Given the description of an element on the screen output the (x, y) to click on. 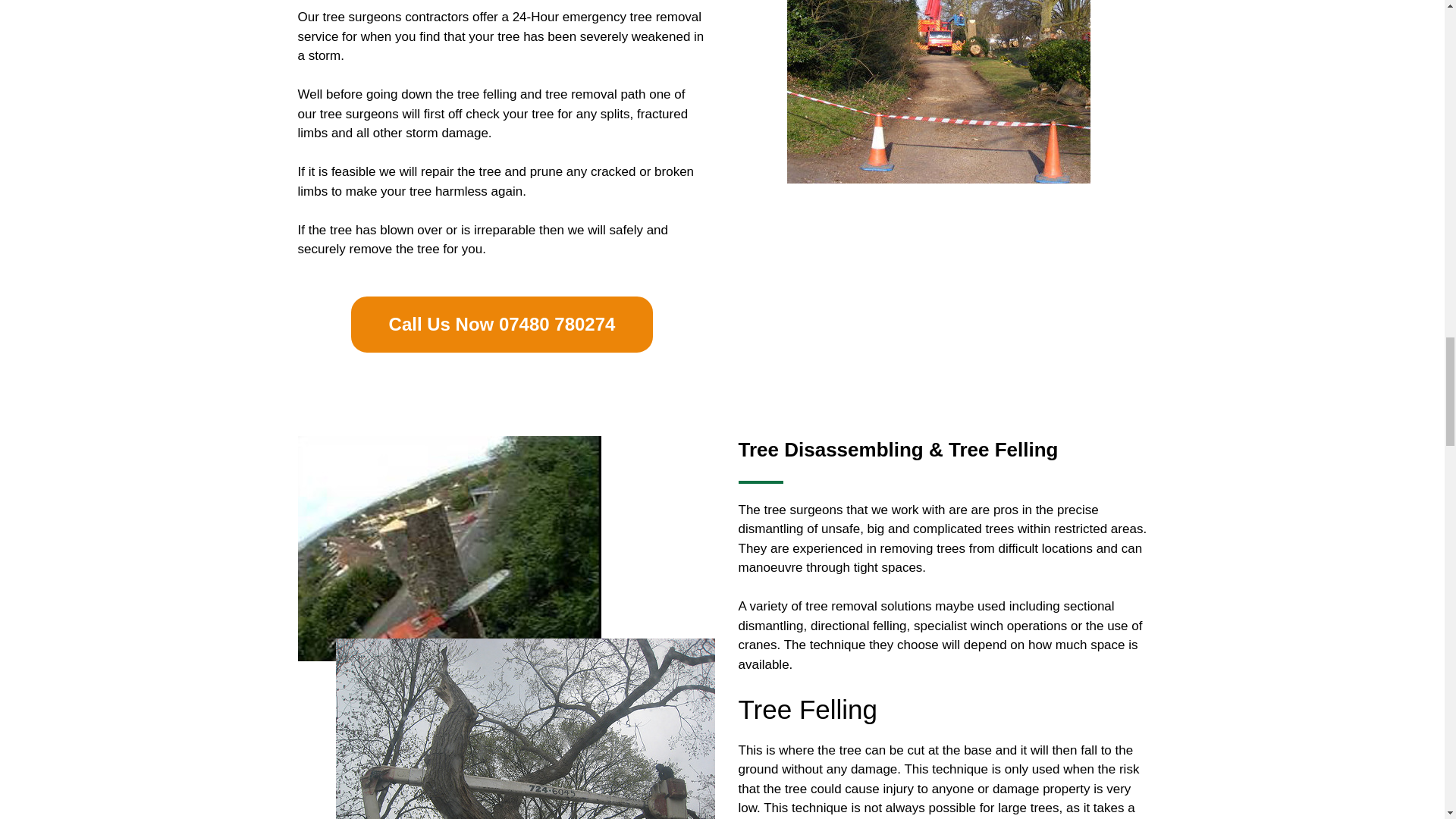
Call Us Now 07480 780274 (501, 324)
